Given the description of an element on the screen output the (x, y) to click on. 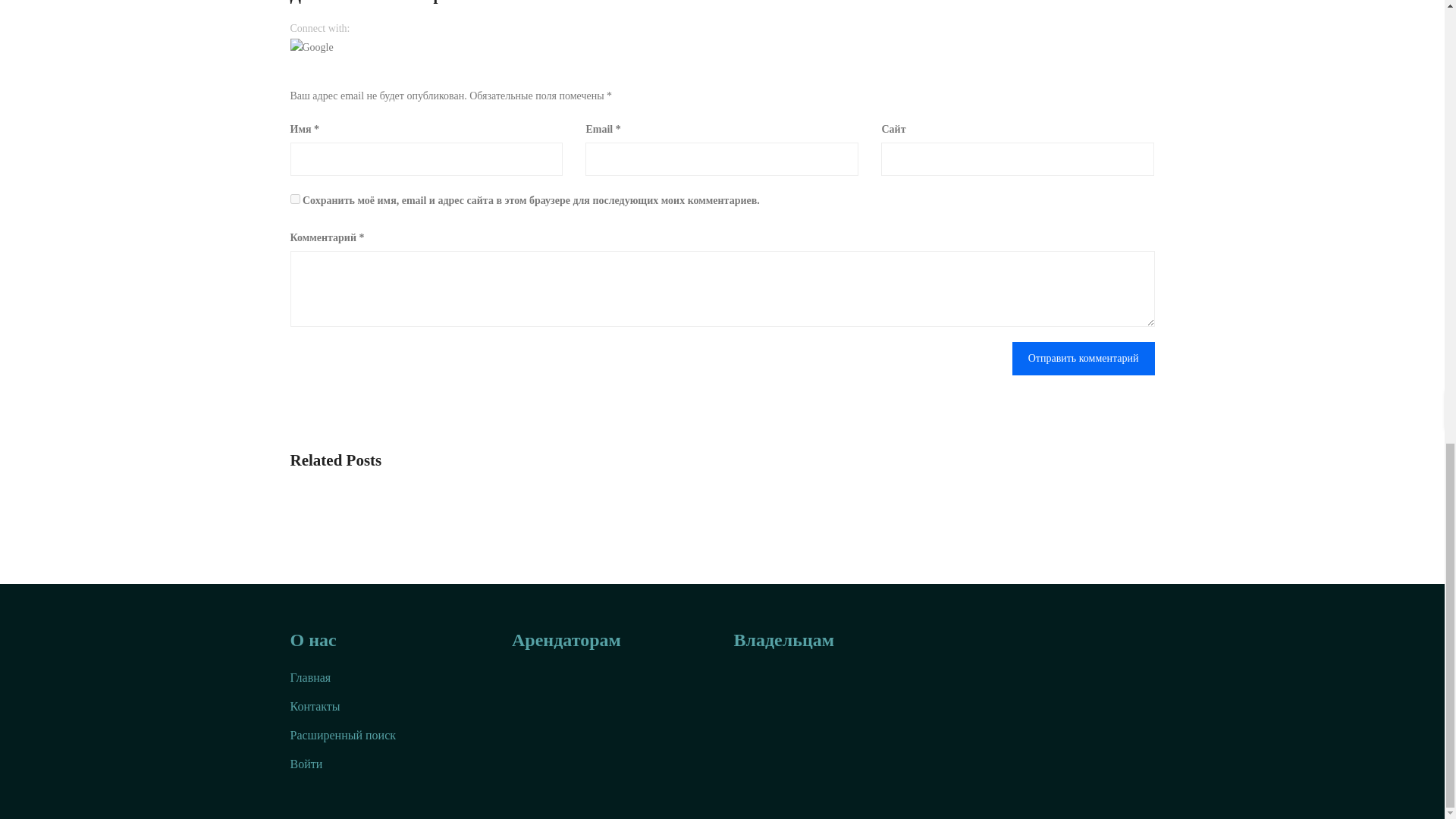
Connect with Google (311, 46)
yes (294, 198)
